Given the description of an element on the screen output the (x, y) to click on. 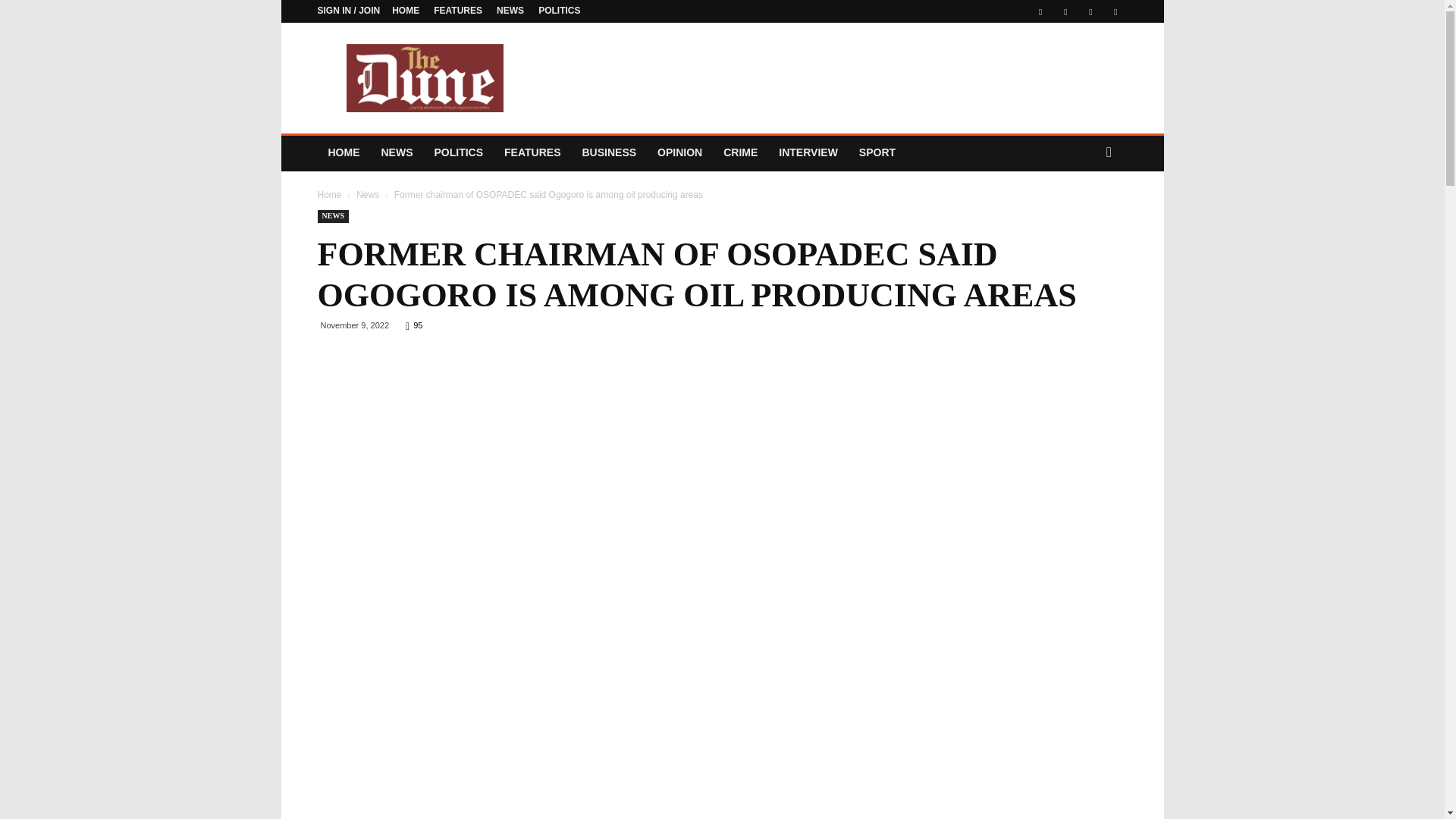
FEATURES (457, 9)
Facebook (1040, 11)
HOME (343, 152)
POLITICS (458, 152)
View all posts in News (367, 194)
NEWS (396, 152)
POLITICS (558, 9)
HOME (405, 9)
NEWS (510, 9)
VKontakte (1090, 11)
Twitter (1065, 11)
FEATURES (531, 152)
Youtube (1114, 11)
